Given the description of an element on the screen output the (x, y) to click on. 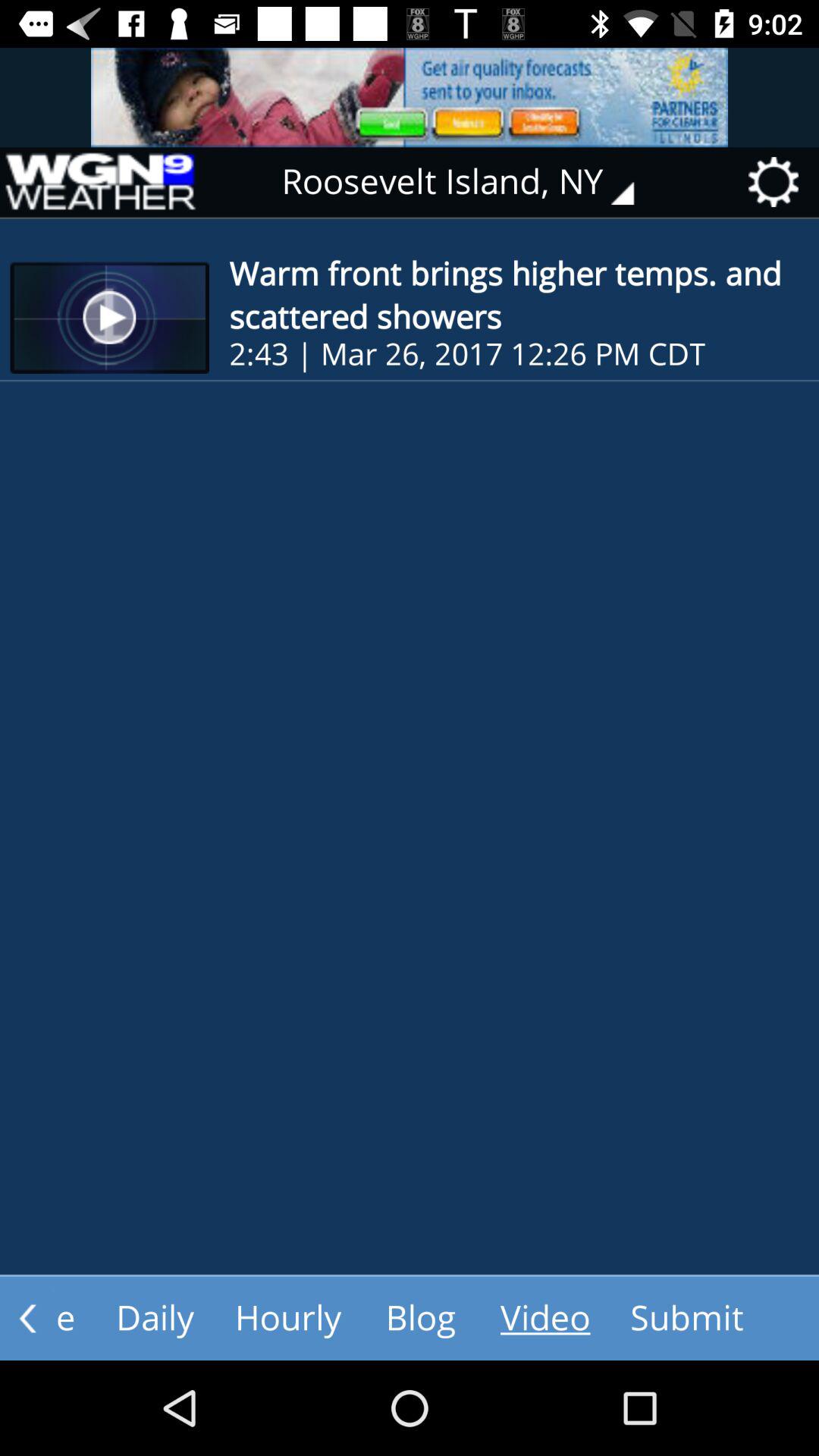
visit advertiser (409, 97)
